Given the description of an element on the screen output the (x, y) to click on. 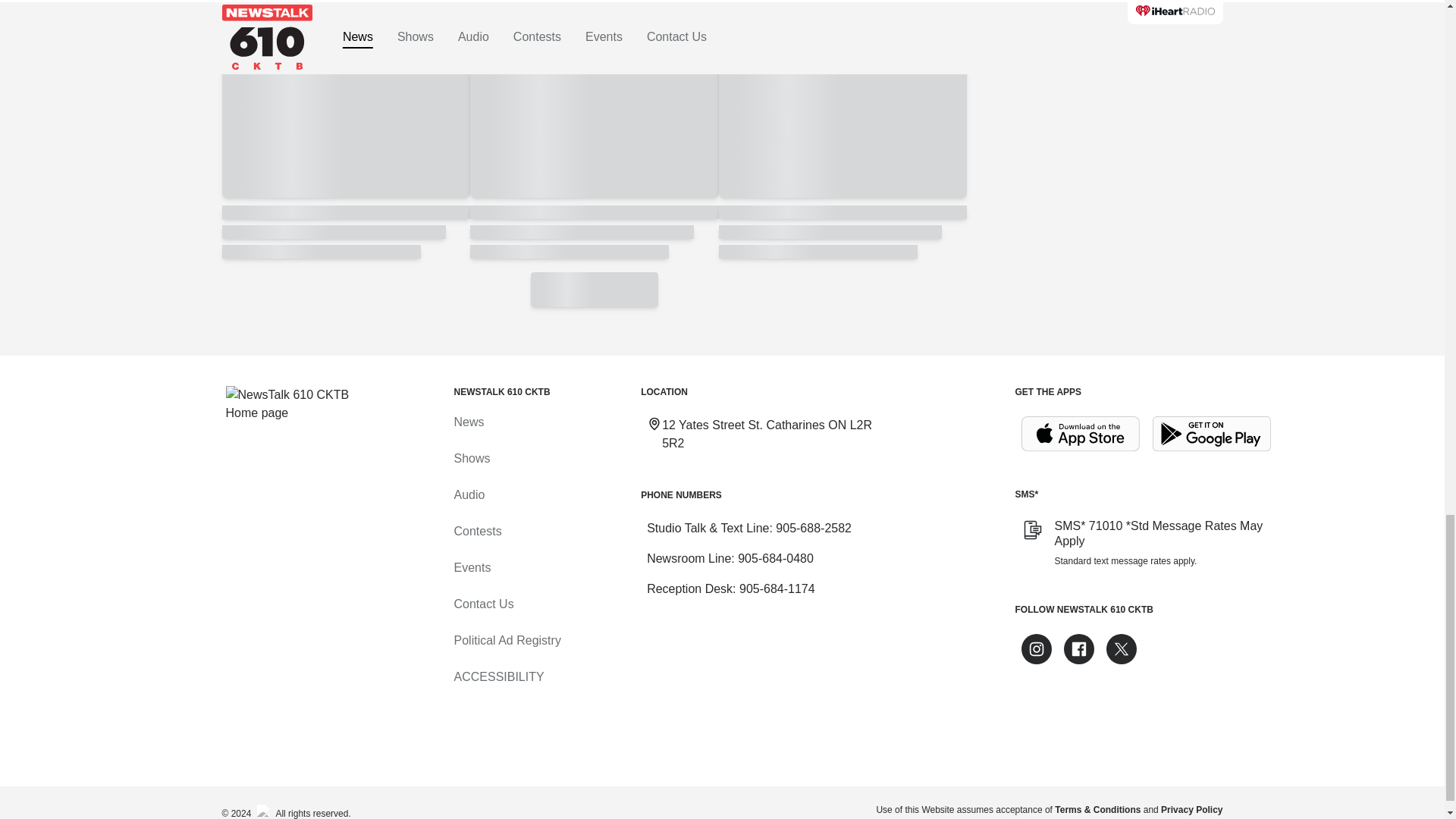
Shows (470, 458)
Accessibility (497, 676)
Get it on Google Play (1212, 434)
Download on the App Store (1080, 434)
Contests (476, 530)
Political Ad Registry (506, 640)
Privacy Policy (1191, 809)
Privacy Policy (1191, 809)
ACCESSIBILITY (497, 676)
News (467, 421)
905-688-2582 (813, 527)
Audio (468, 494)
Contact Us (482, 603)
905-684-0480 (775, 558)
Events (471, 567)
